Given the description of an element on the screen output the (x, y) to click on. 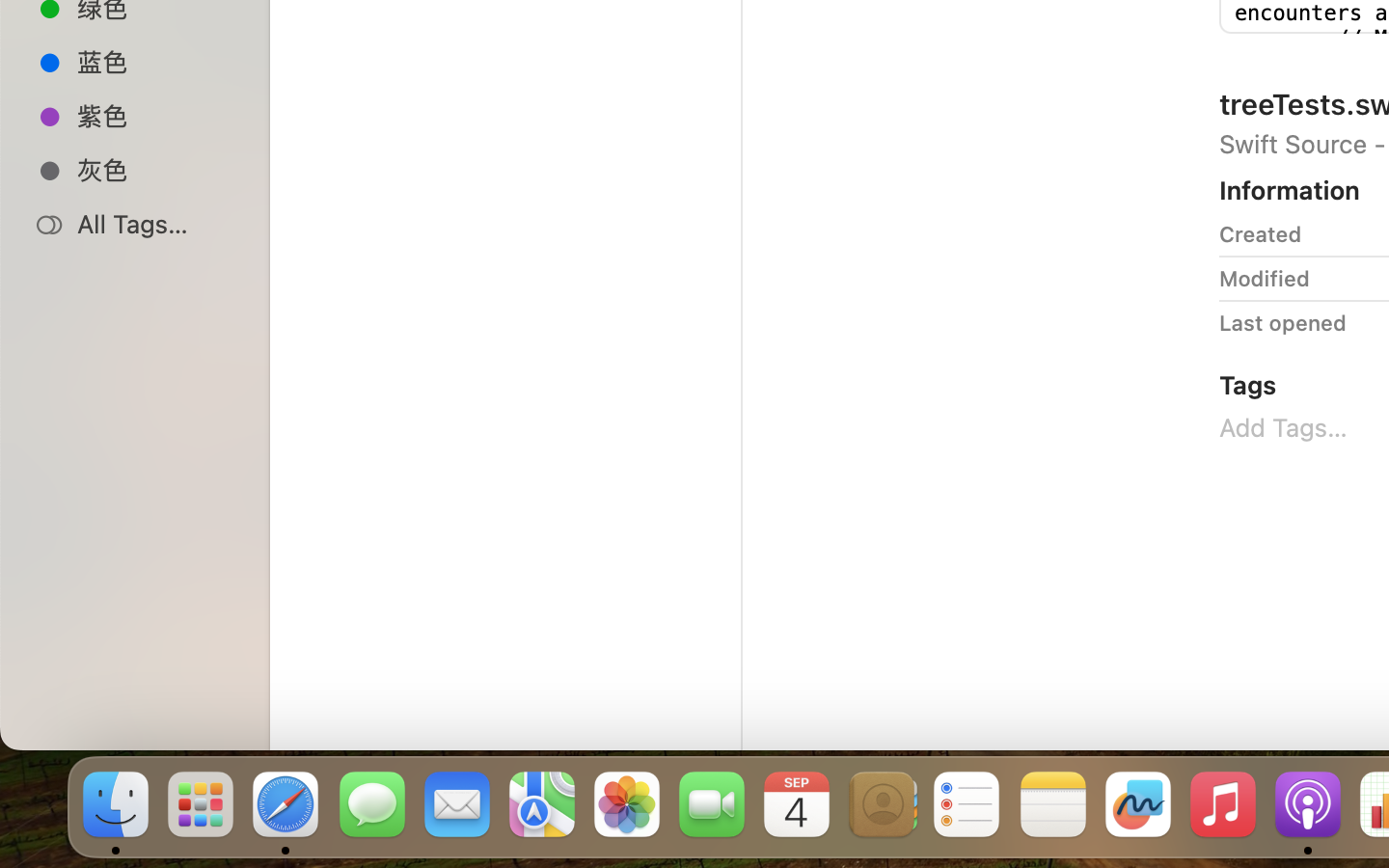
All Tags… Element type: AXStaticText (155, 223)
Created Element type: AXStaticText (1260, 232)
灰色 Element type: AXStaticText (155, 169)
Information Element type: AXStaticText (1289, 188)
蓝色 Element type: AXStaticText (155, 61)
